Given the description of an element on the screen output the (x, y) to click on. 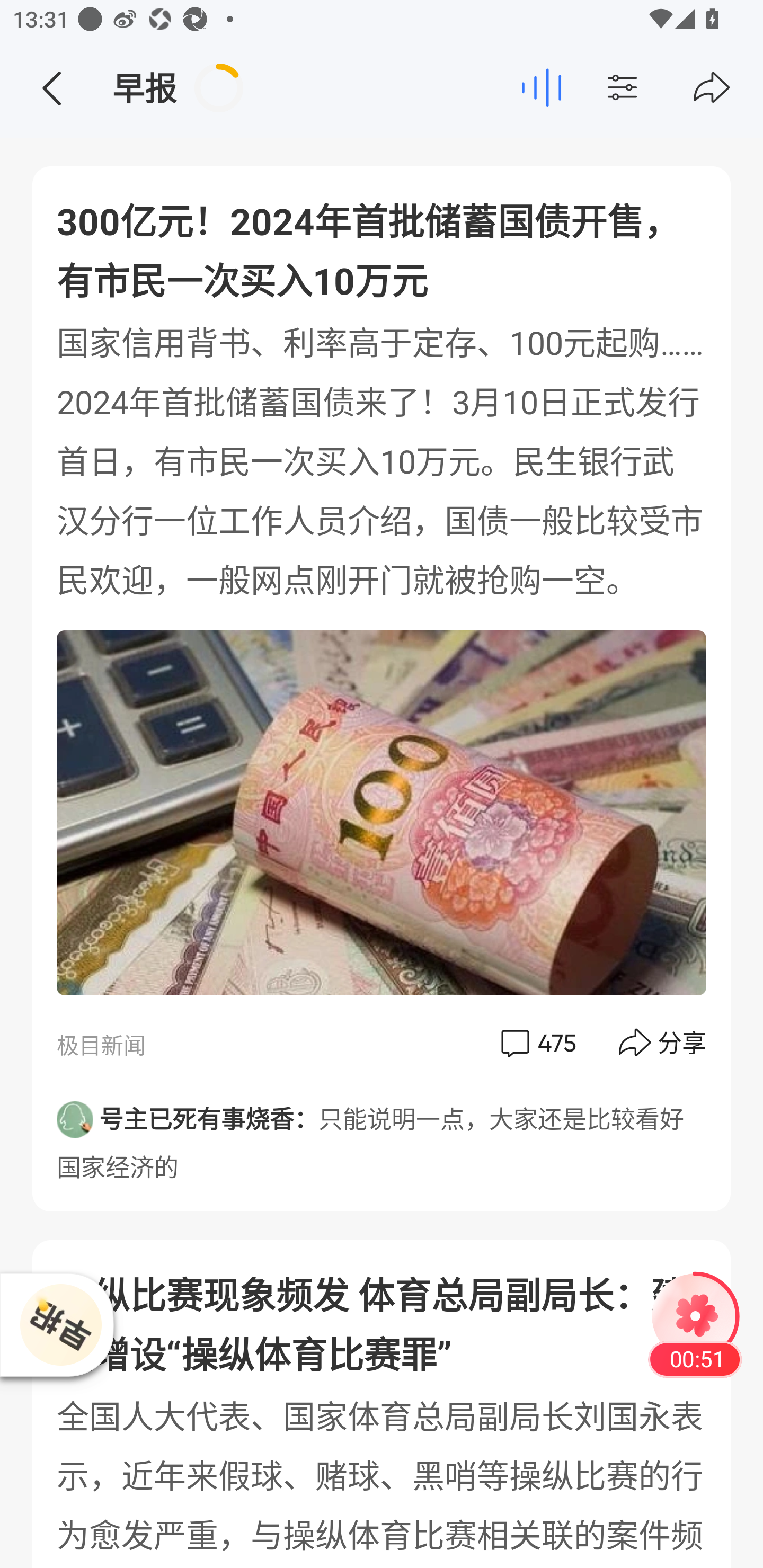
 (50, 87)
 (656, 87)
 (711, 87)
评论  475 (536, 1042)
 分享 (663, 1042)
  号主已死有事烧香：只能说明一点，大家还是比较看好国家经济的 (381, 1136)
播放器 (60, 1324)
